Given the description of an element on the screen output the (x, y) to click on. 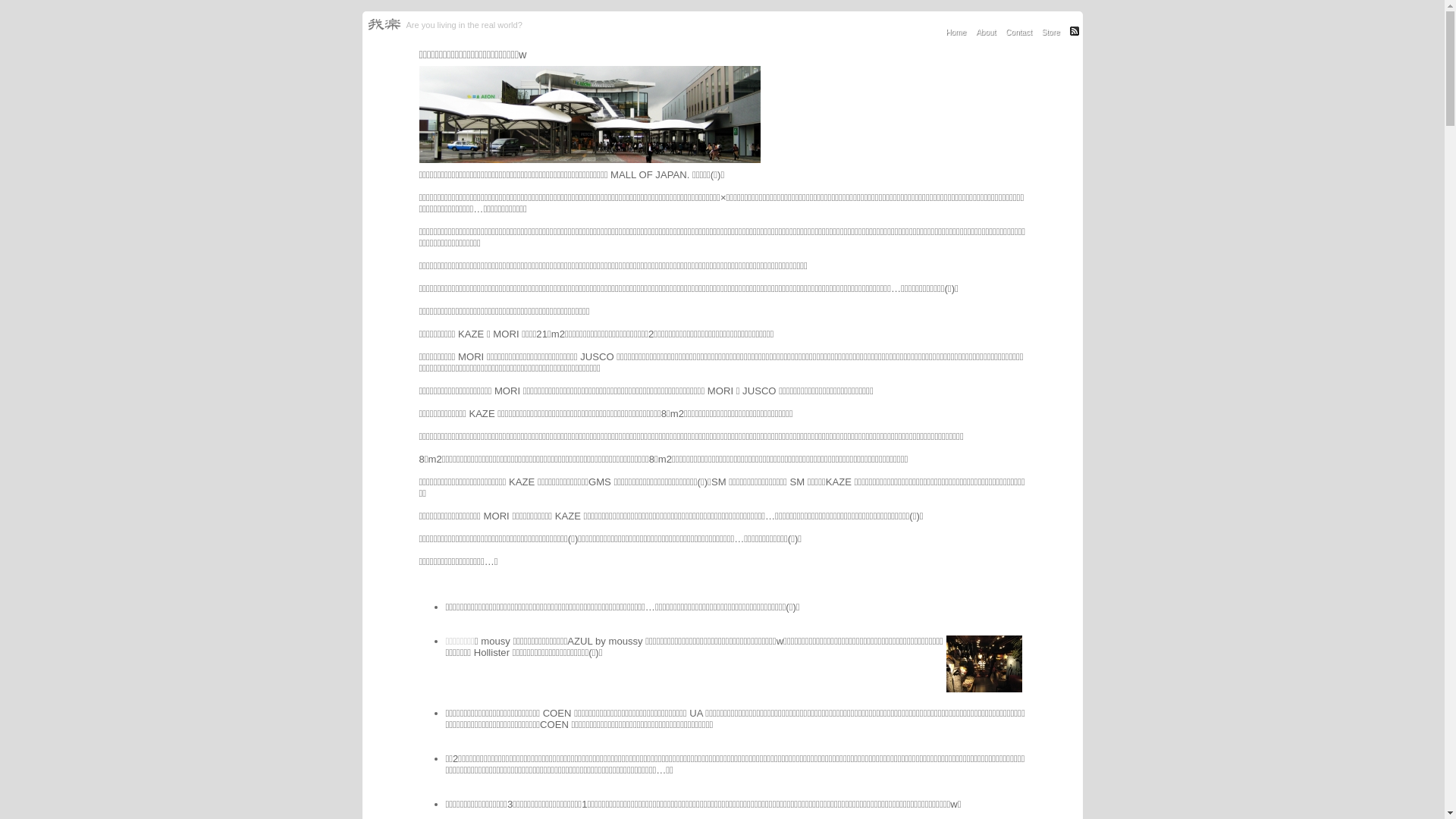
Lake Town Element type: hover (590, 163)
Contact Element type: text (1018, 32)
Home Element type: text (955, 32)
About Element type: text (985, 32)
Store Element type: text (1050, 32)
